Given the description of an element on the screen output the (x, y) to click on. 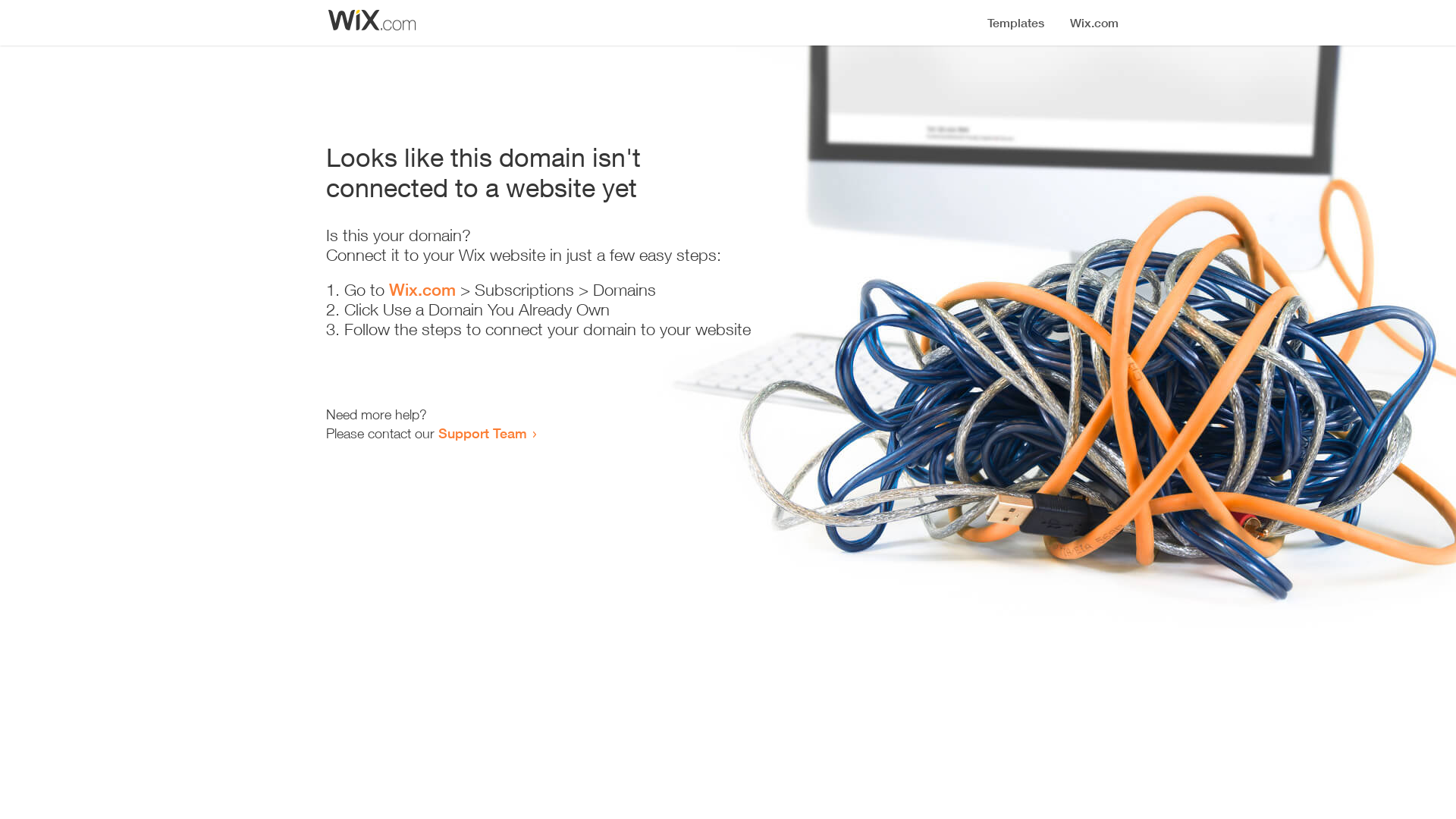
Support Team Element type: text (482, 432)
Wix.com Element type: text (422, 289)
